Given the description of an element on the screen output the (x, y) to click on. 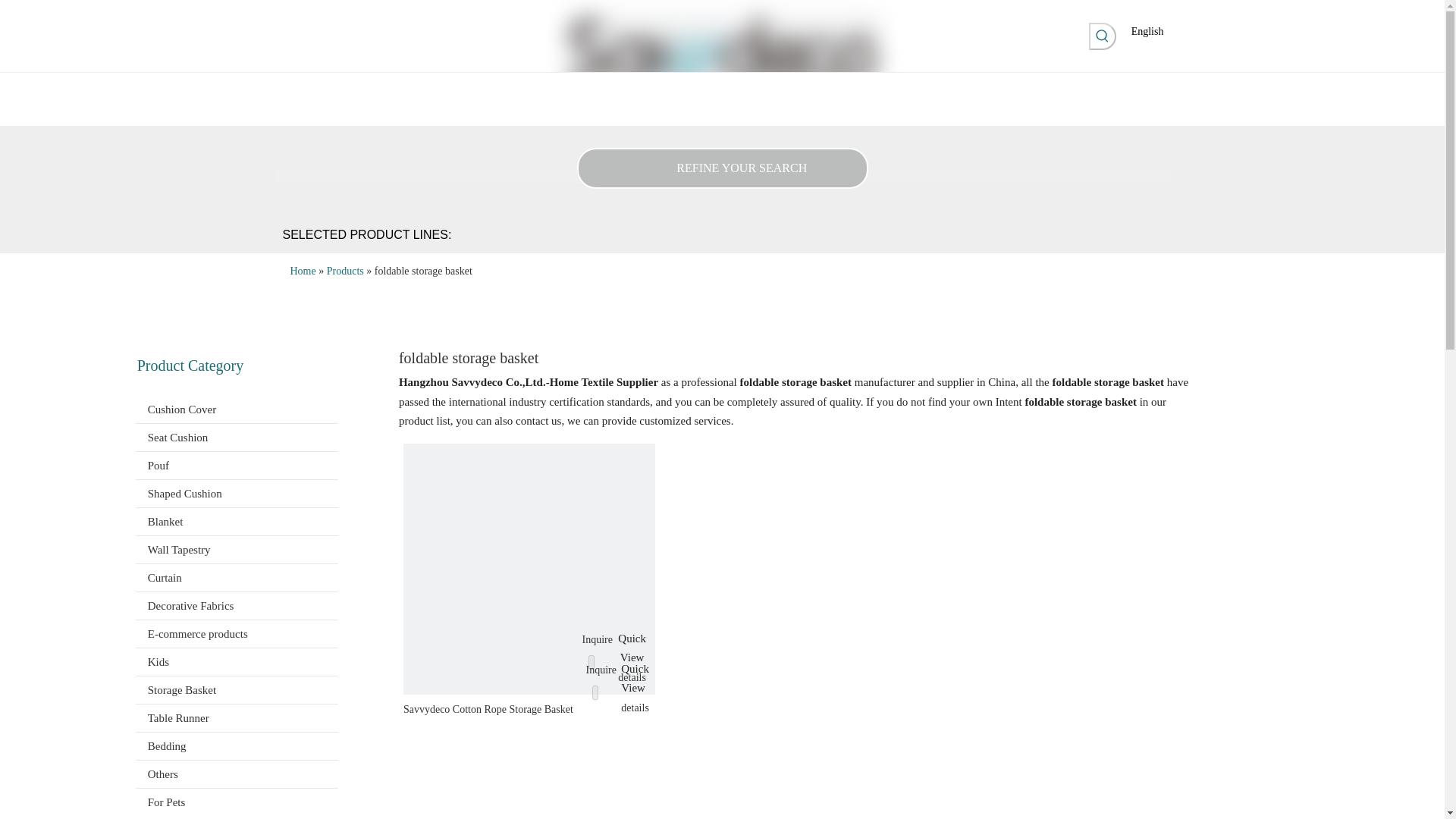
Cushion Cover (237, 409)
Blanket (237, 521)
Home (295, 87)
English (1147, 30)
Curtain (237, 577)
Seat Cushion (237, 437)
Products (398, 87)
Wall Tapestry (237, 549)
Pouf (237, 465)
Shaped Cushion (237, 492)
